Given the description of an element on the screen output the (x, y) to click on. 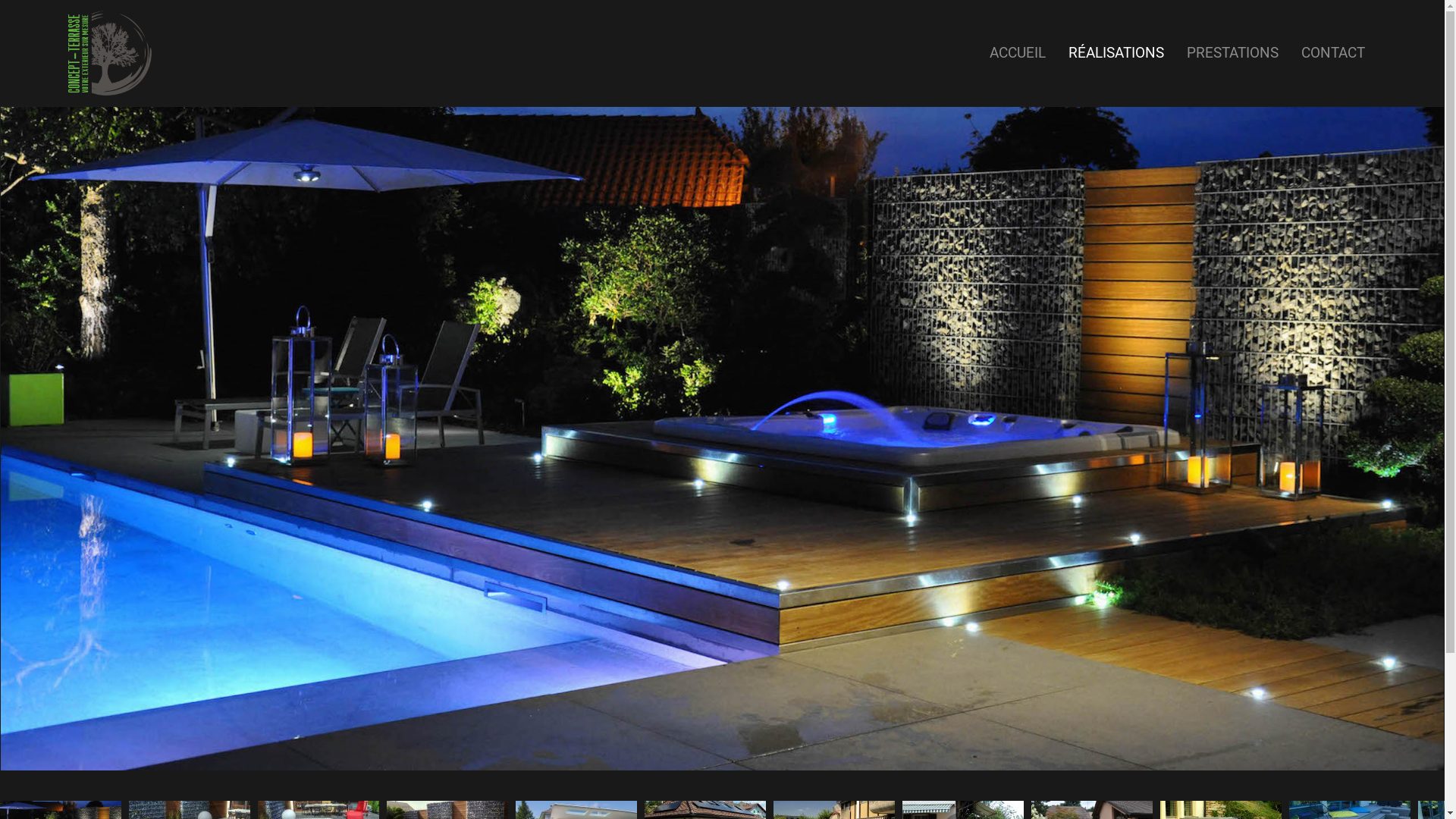
123 Element type: hover (721, 438)
